Given the description of an element on the screen output the (x, y) to click on. 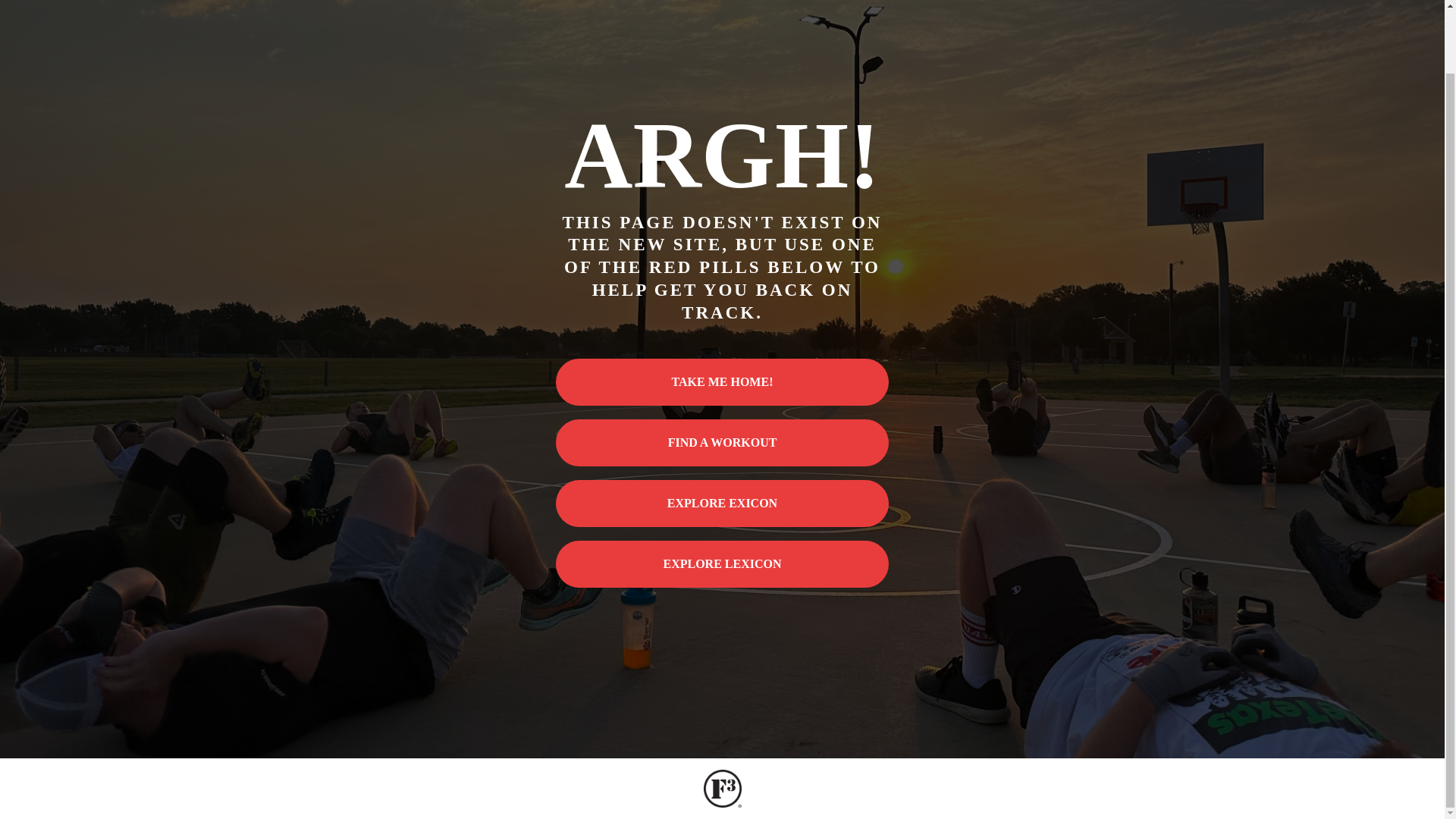
EXPLORE EXICON (722, 503)
FIND A WORKOUT (722, 442)
EXPLORE LEXICON (722, 564)
TAKE ME HOME! (722, 381)
